Given the description of an element on the screen output the (x, y) to click on. 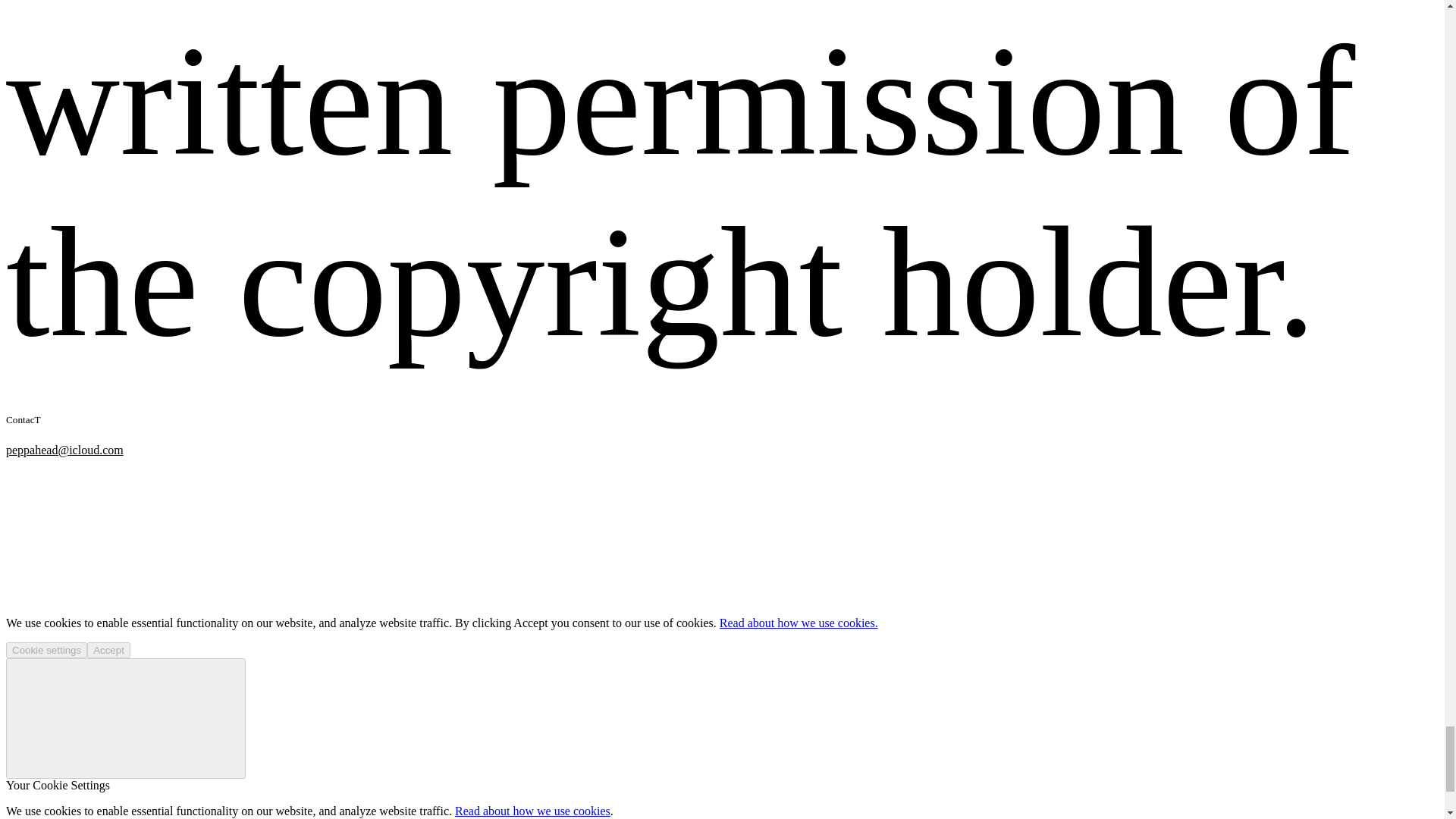
Read about how we use cookies. (798, 622)
Read about how we use cookies (532, 810)
Cookie settings (46, 650)
Accept (109, 650)
